Given the description of an element on the screen output the (x, y) to click on. 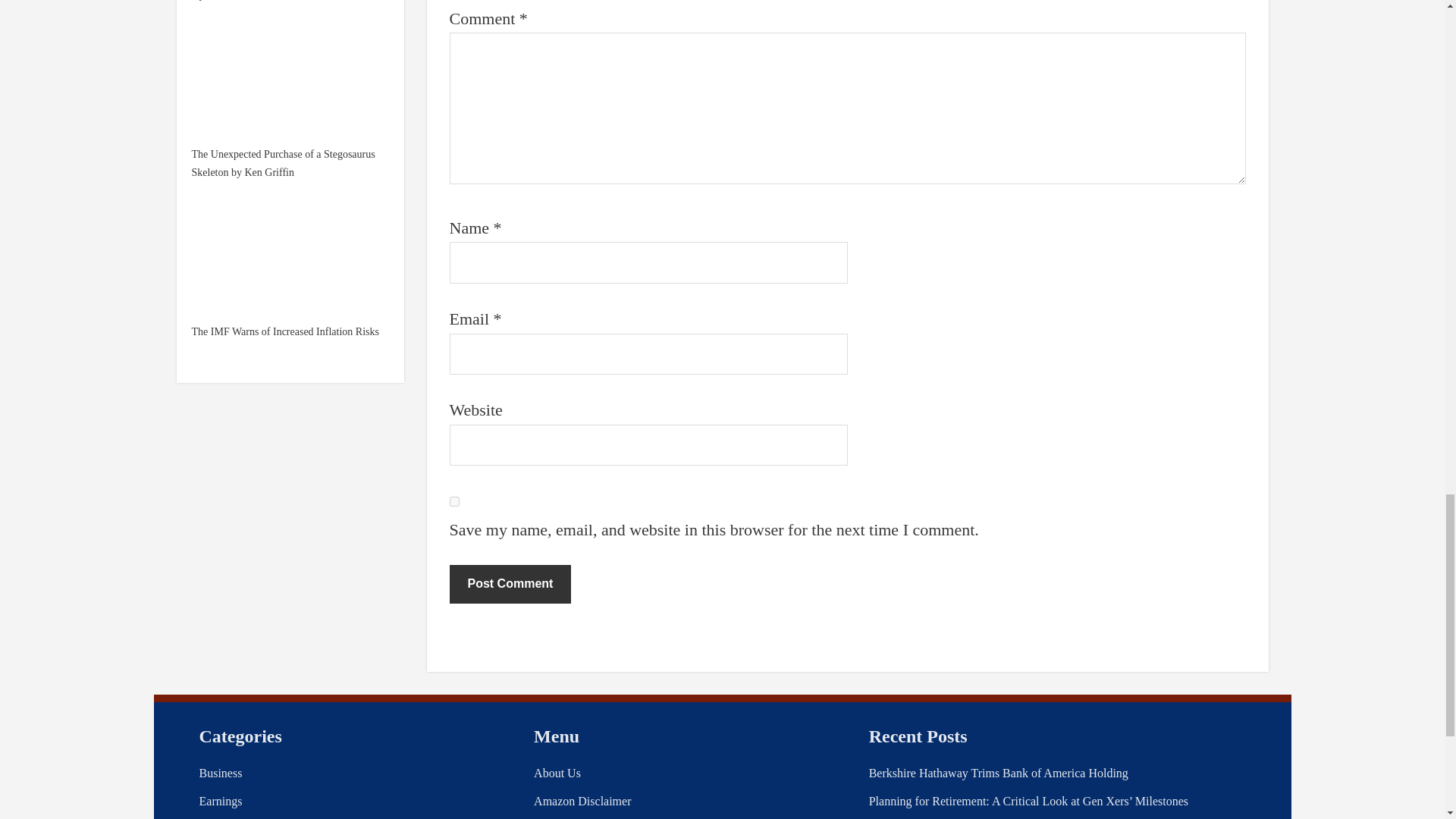
Post Comment (509, 583)
yes (453, 501)
